Given the description of an element on the screen output the (x, y) to click on. 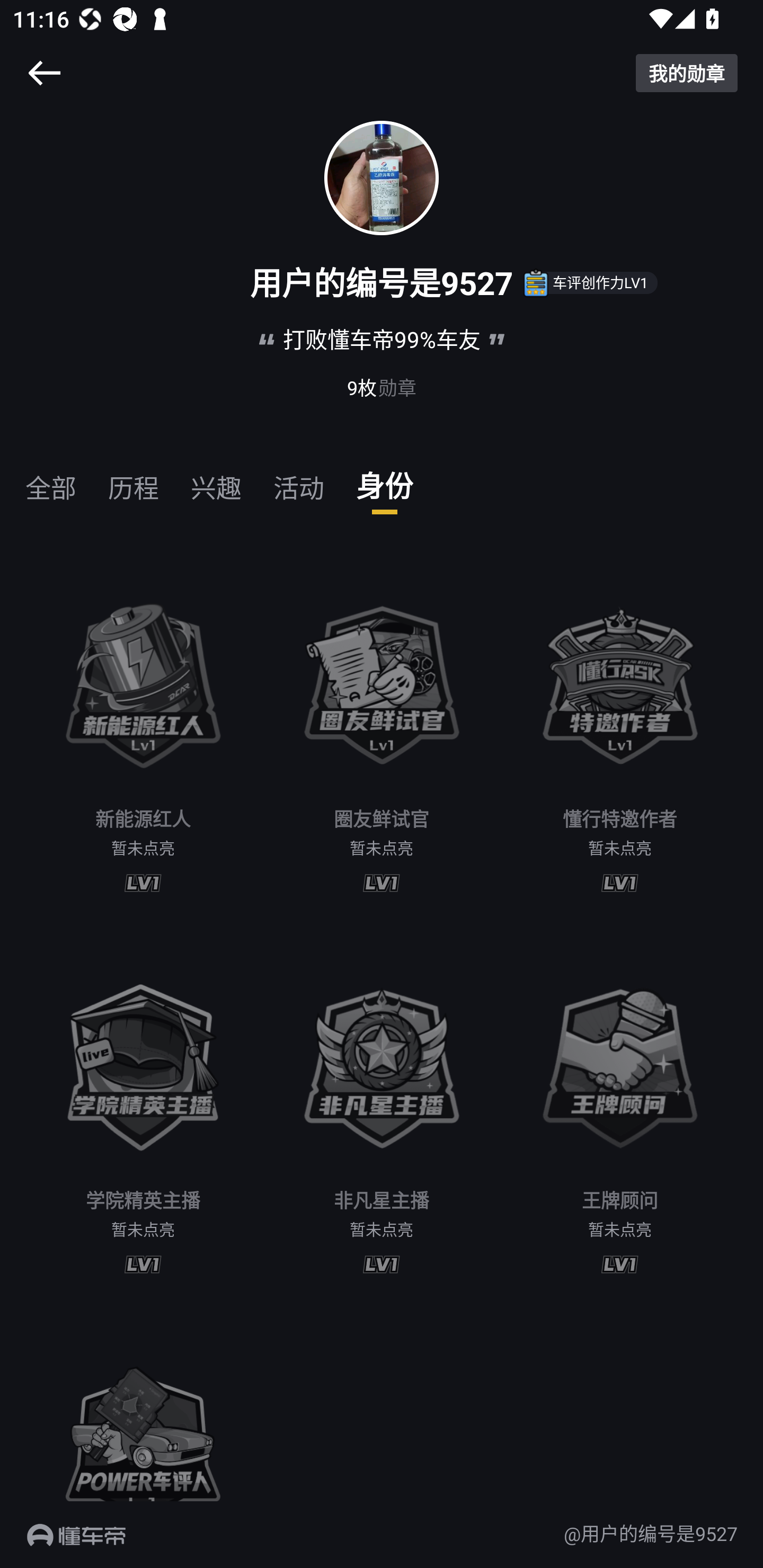
 (44, 72)
我的勋章 (686, 72)
全部 (50, 479)
历程 (133, 479)
兴趣 (215, 479)
活动 (298, 479)
身份 (384, 479)
新能源红人 暂未点亮 (142, 731)
圈友鲜试官 暂未点亮 (381, 731)
懂行特邀作者 暂未点亮 (619, 731)
学院精英主播 暂未点亮 (142, 1113)
非凡星主播 暂未点亮 (381, 1113)
王牌顾问 暂未点亮 (619, 1113)
